Given the description of an element on the screen output the (x, y) to click on. 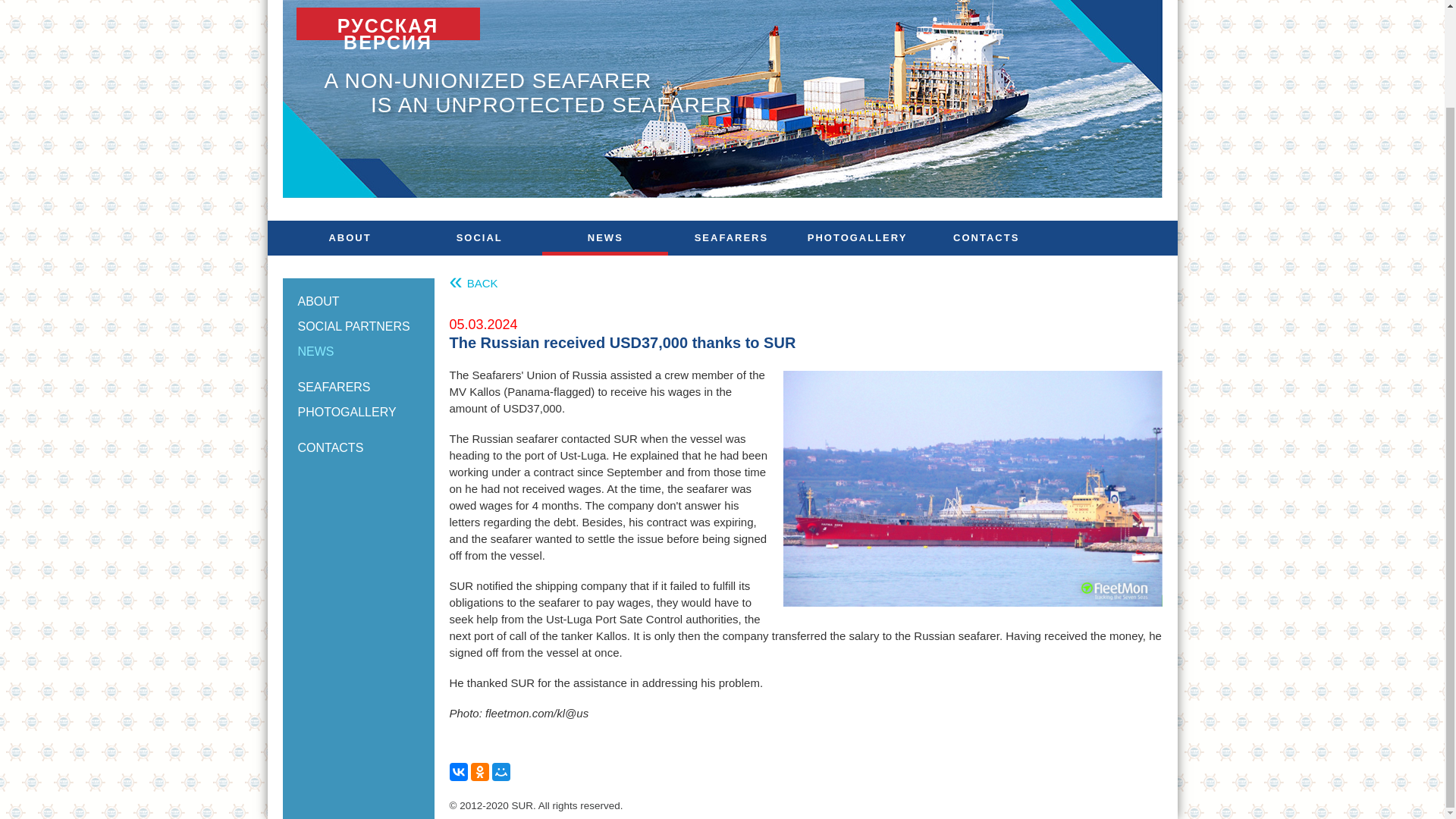
Odnoklassniki (478, 771)
PHOTOGALLERY (358, 416)
PHOTOGALLERY (857, 237)
CONTACTS (329, 447)
SEAFARERS (333, 387)
NEWS (604, 237)
CONTACTS (982, 237)
NEWS (358, 355)
SEAFARERS (730, 237)
ABOUT (353, 237)
